Given the description of an element on the screen output the (x, y) to click on. 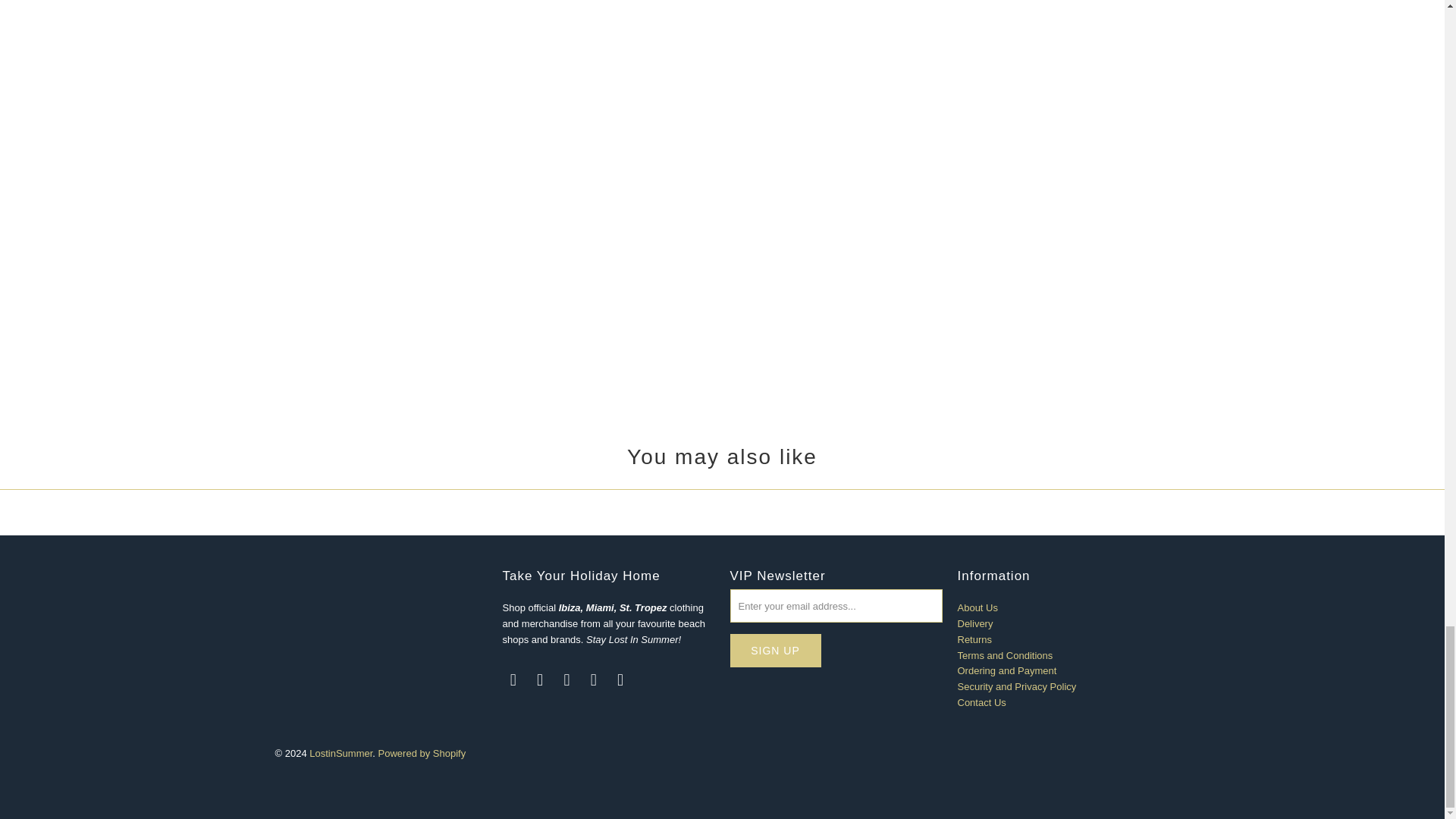
LostinSummer on Facebook (540, 679)
LostinSummer on Twitter (513, 679)
Sign Up (775, 650)
